Given the description of an element on the screen output the (x, y) to click on. 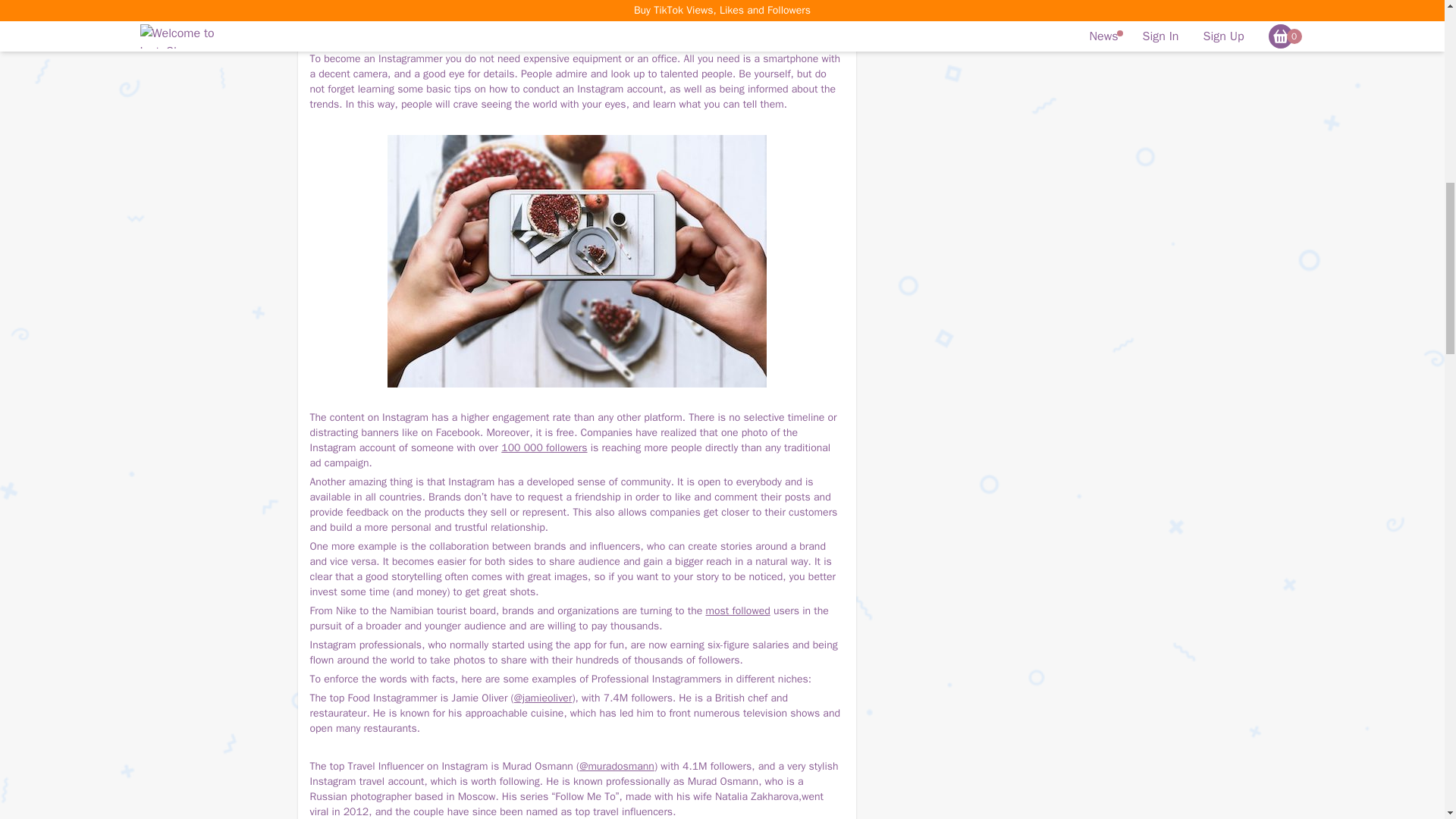
most followed (737, 610)
100 000 followers (543, 447)
